Given the description of an element on the screen output the (x, y) to click on. 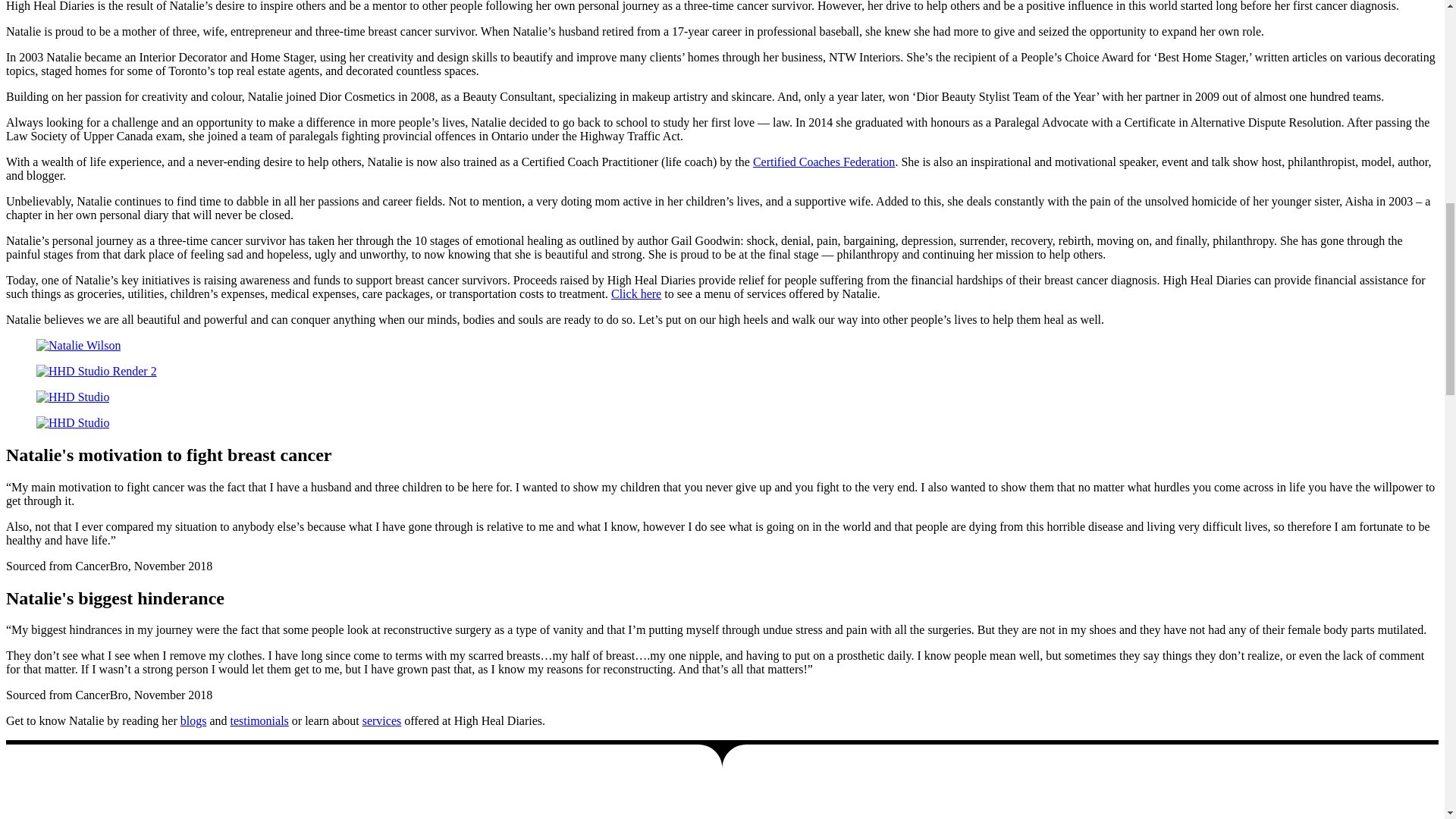
Certified Coaches Federation (823, 161)
Click here (636, 293)
